Given the description of an element on the screen output the (x, y) to click on. 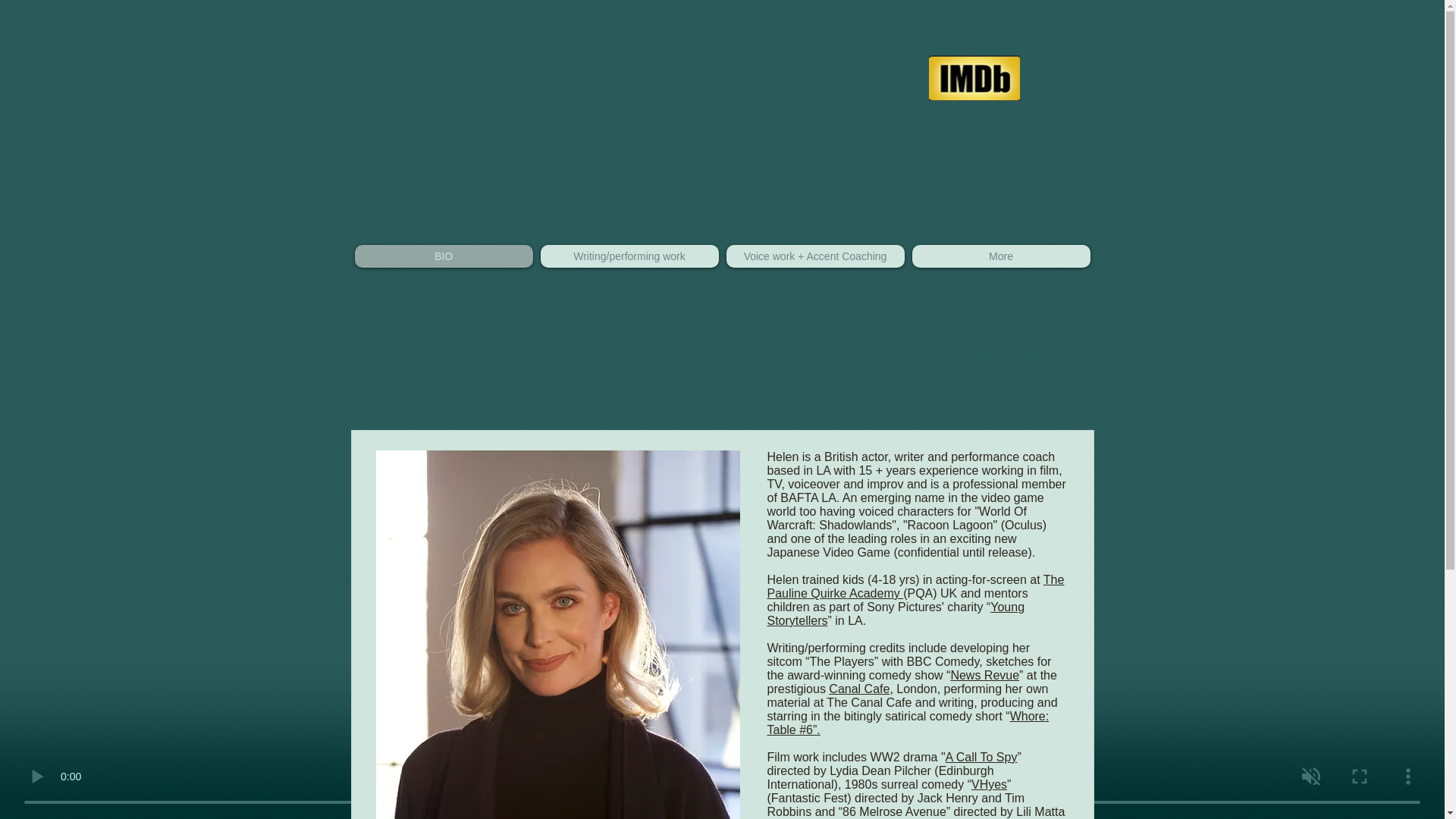
News Revue (984, 675)
VHyes (989, 784)
BIO (443, 255)
Young Storytellers (896, 613)
A Call To Spy (980, 757)
Canal Cafe (858, 688)
The Pauline Quirke Academy (915, 586)
